Given the description of an element on the screen output the (x, y) to click on. 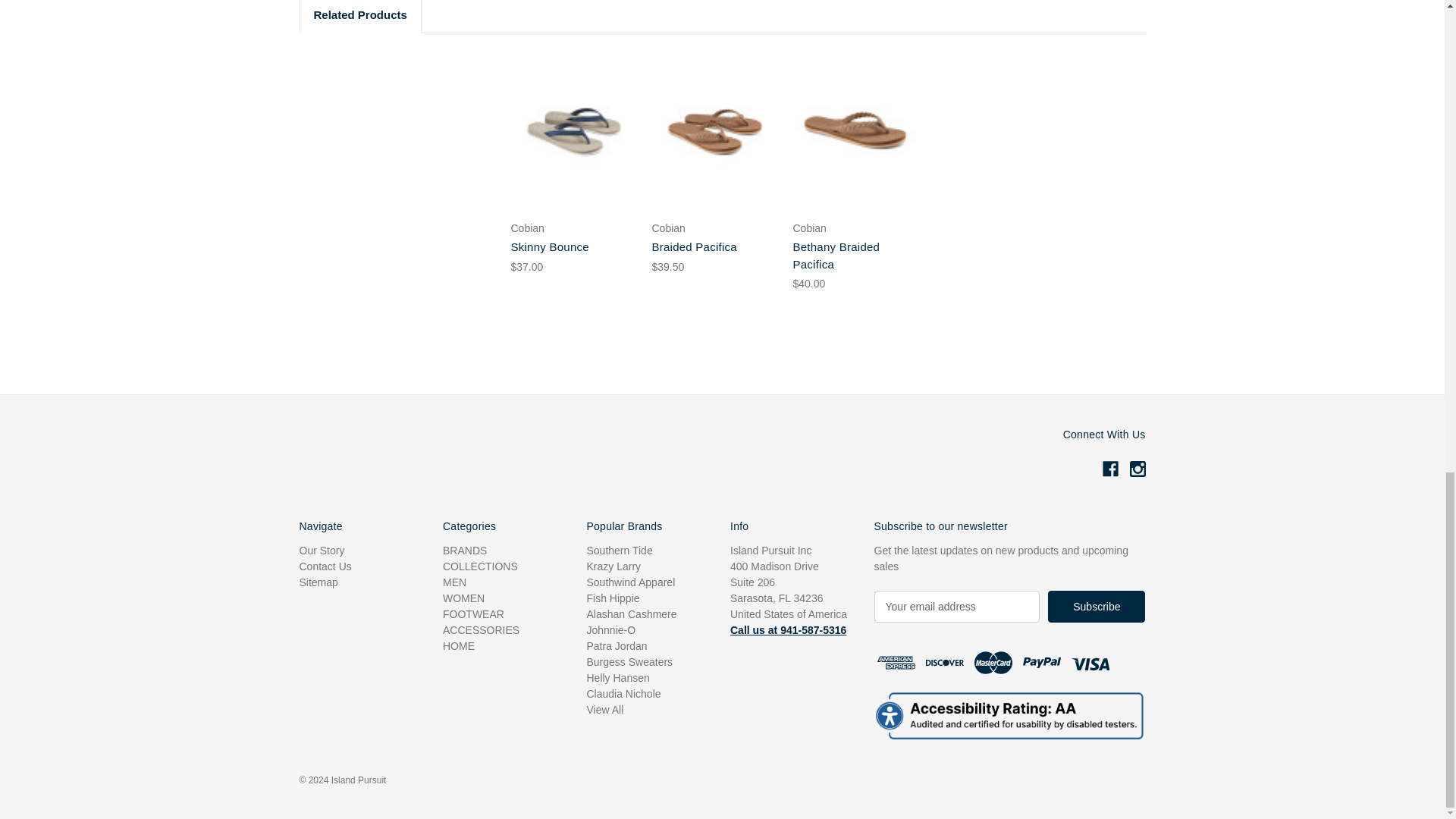
Subscribe (1096, 606)
Cobian Footwear Braided Pacifica for Women in Tan  (713, 130)
Cobian Footwear for Women in Skinny Bounce in Navy (572, 130)
